Given the description of an element on the screen output the (x, y) to click on. 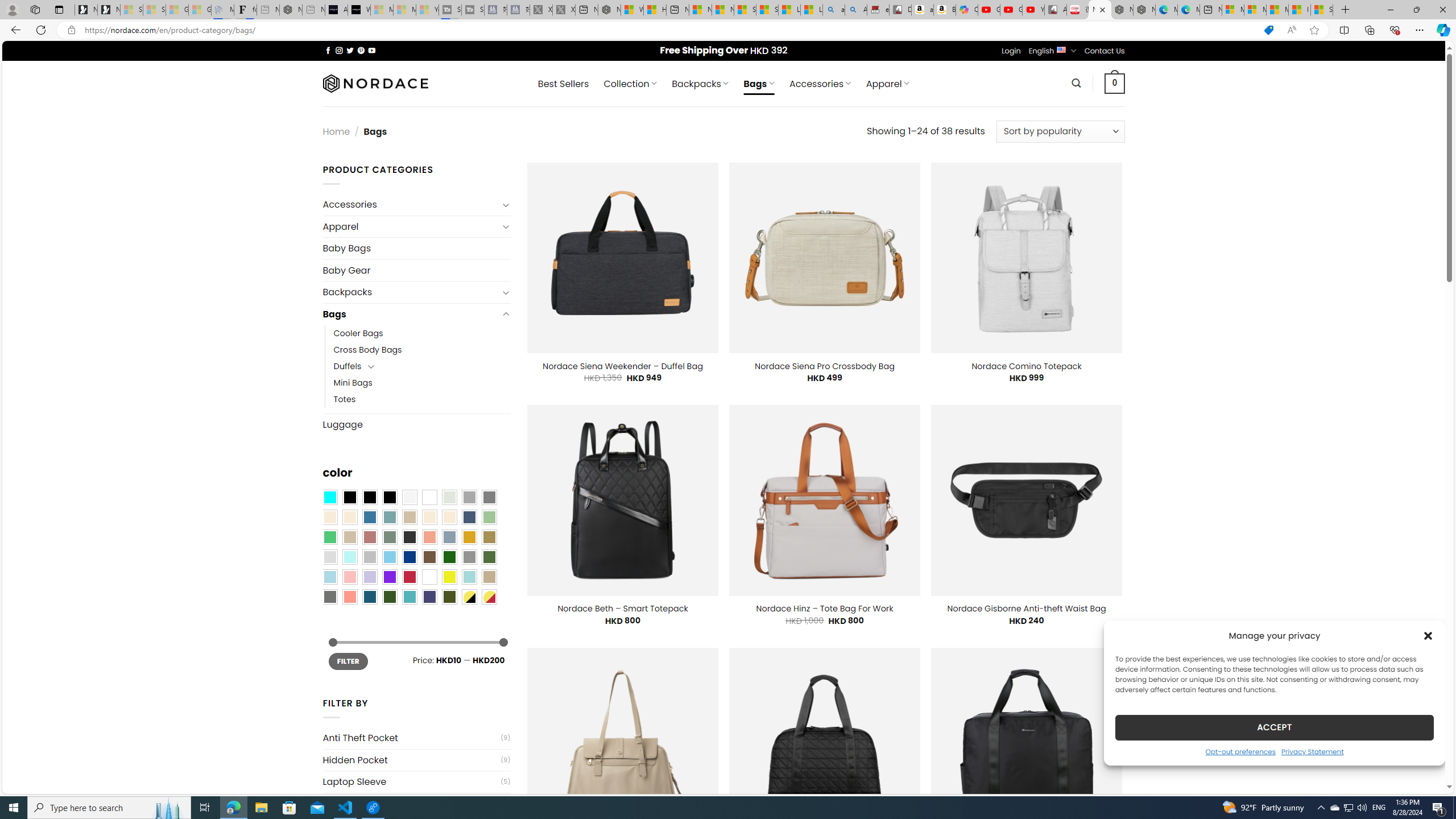
  Best Sellers (563, 83)
Duffels (347, 366)
Capri Blue (369, 596)
Totes (344, 398)
Shop order (1060, 131)
Cream (449, 517)
Silver (369, 557)
Pearly White (408, 497)
